Given the description of an element on the screen output the (x, y) to click on. 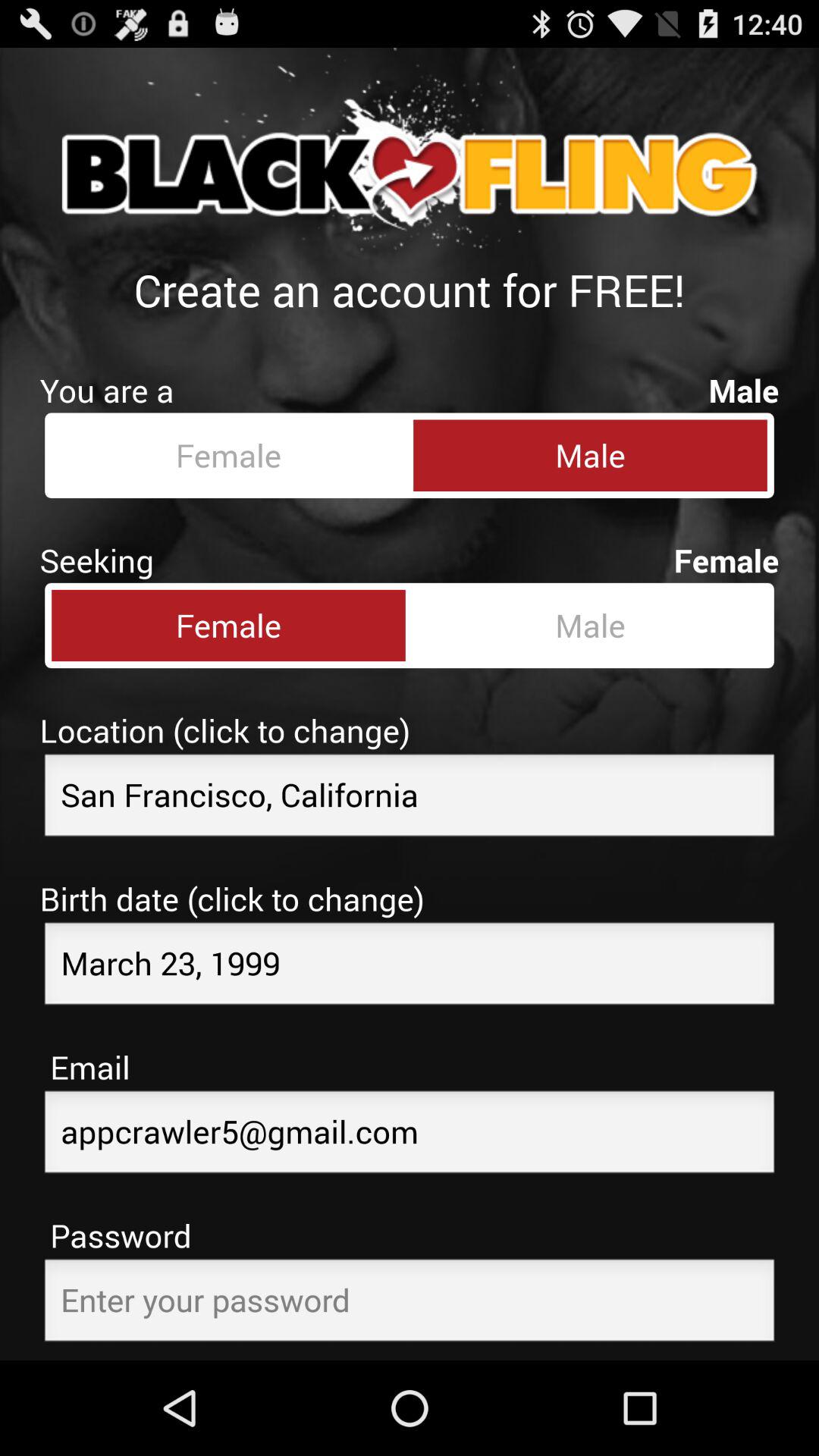
password entry (409, 1304)
